Given the description of an element on the screen output the (x, y) to click on. 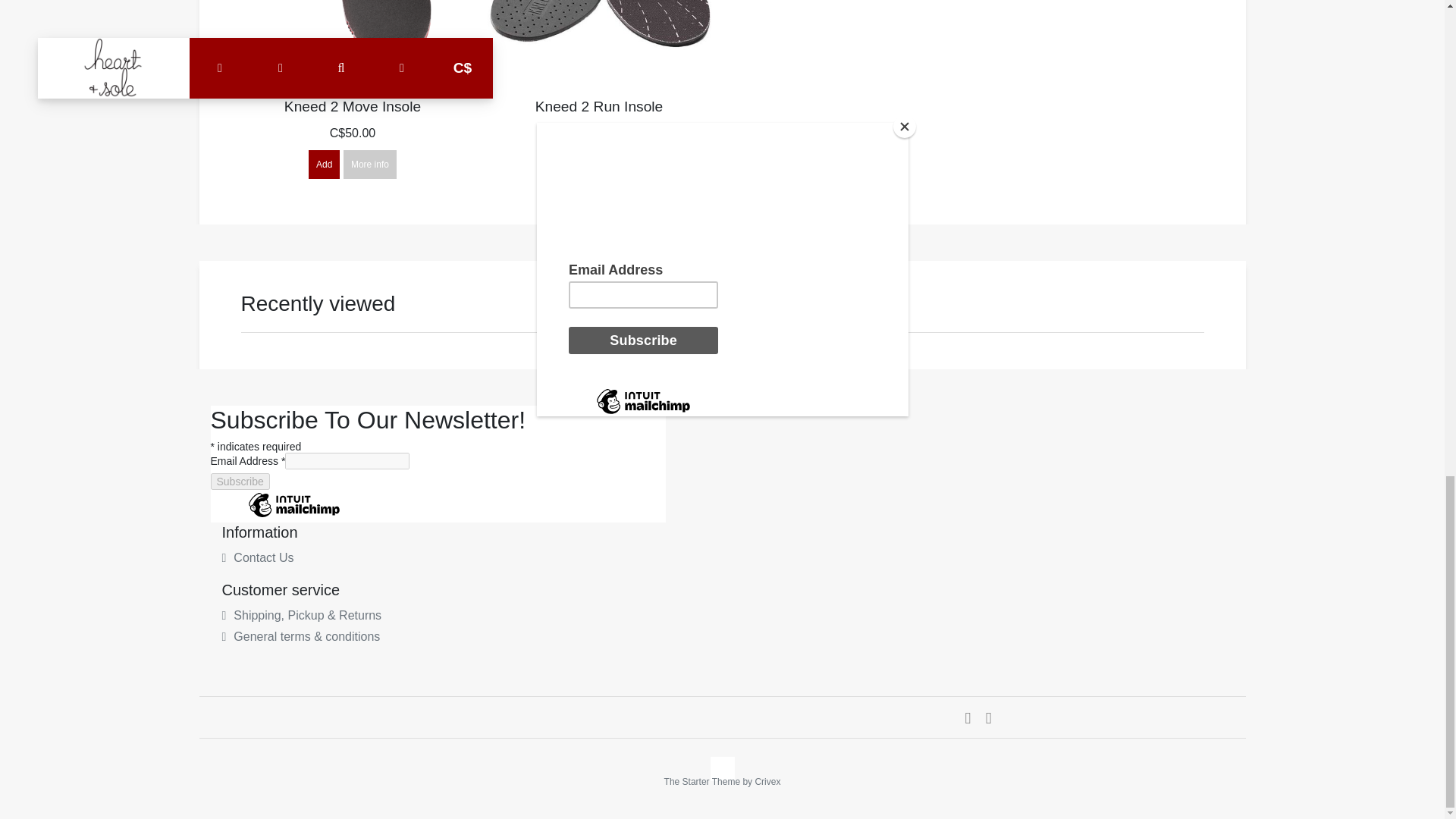
Subscribe (240, 481)
